Given the description of an element on the screen output the (x, y) to click on. 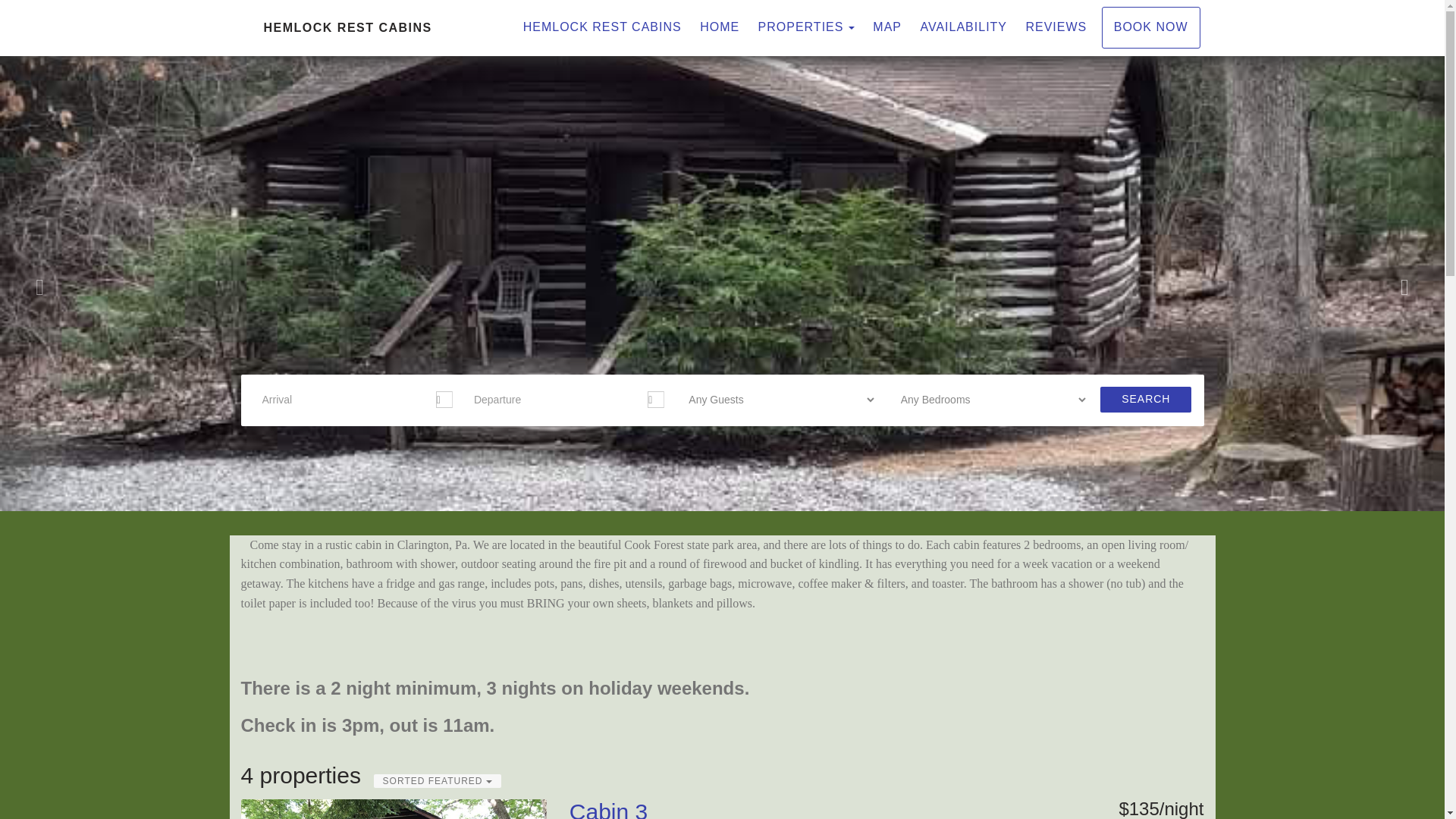
PROPERTIES (801, 26)
HEMLOCK REST CABINS (481, 27)
Cabin 3 (608, 809)
HEMLOCK REST CABINS (601, 26)
MAP (886, 26)
SEARCH (1145, 399)
AVAILABILITY (963, 26)
SORTED FEATURED (437, 780)
REVIEWS (1055, 26)
BOOK NOW (1150, 27)
